Given the description of an element on the screen output the (x, y) to click on. 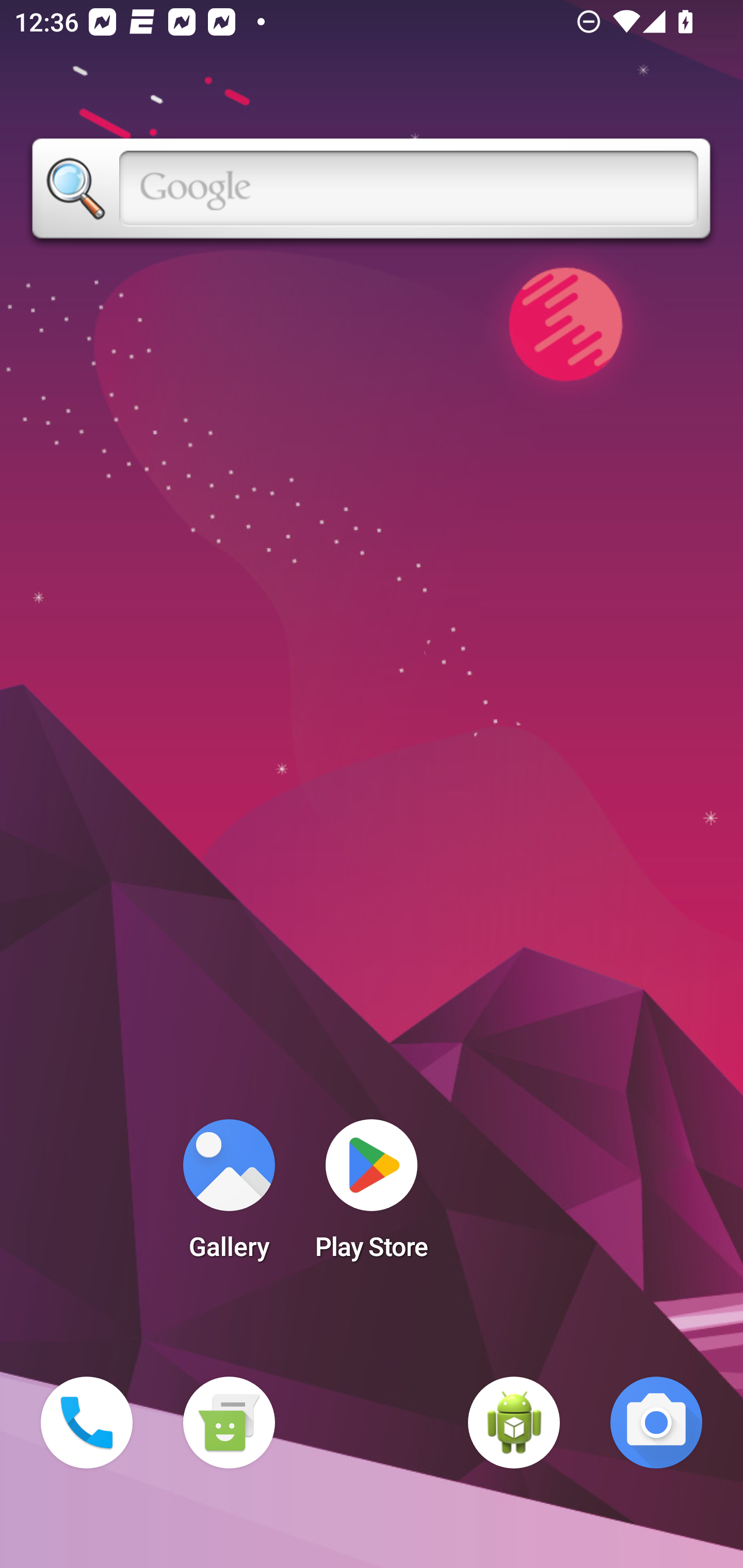
Gallery (228, 1195)
Play Store (371, 1195)
Phone (86, 1422)
Messaging (228, 1422)
WebView Browser Tester (513, 1422)
Camera (656, 1422)
